Given the description of an element on the screen output the (x, y) to click on. 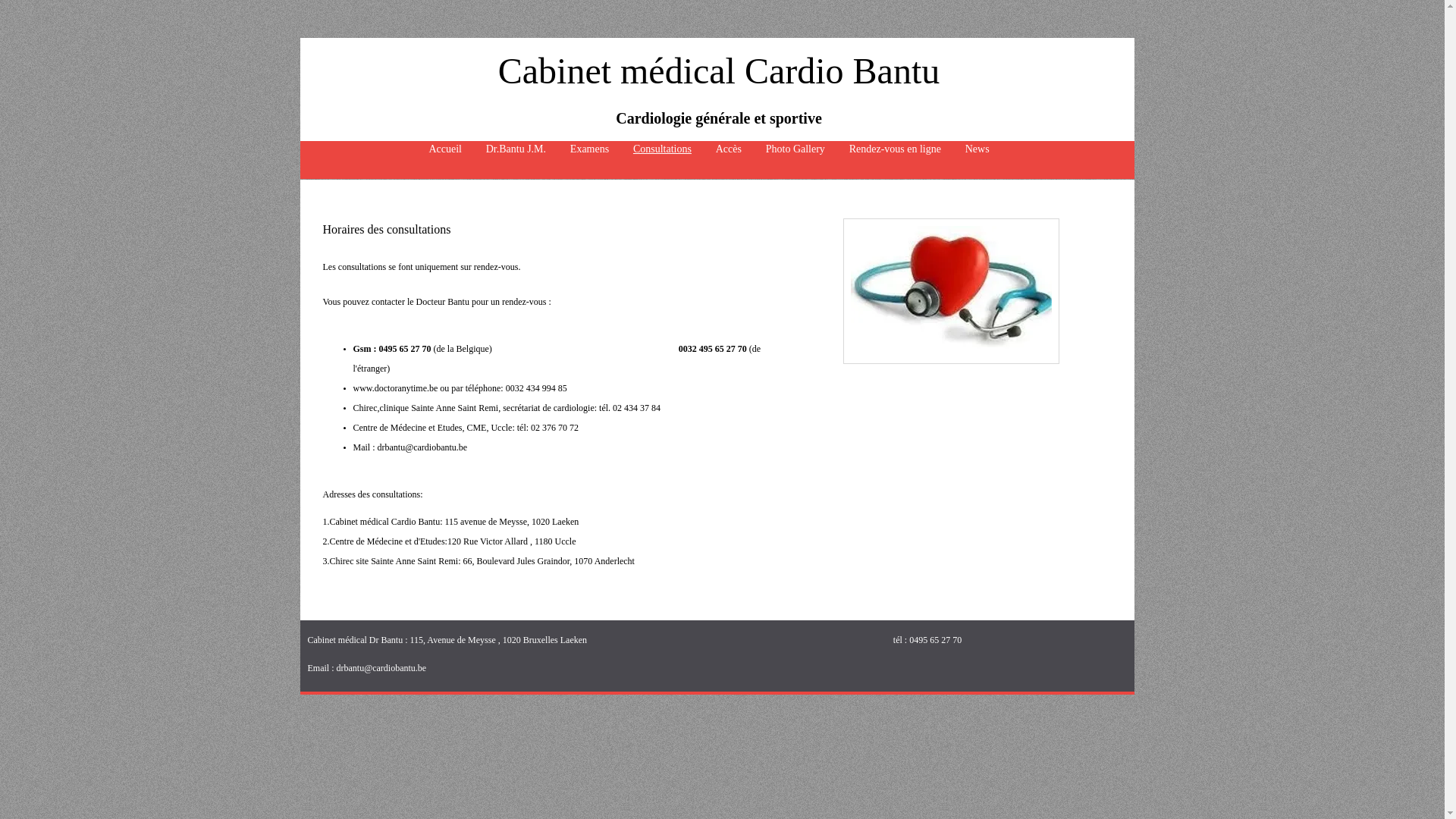
Photo Gallery Element type: text (795, 148)
News Element type: text (977, 148)
Examens Element type: text (589, 148)
drbantu@cardiobantu.be Element type: text (422, 447)
Rendez-vous en ligne Element type: text (895, 148)
Accueil Element type: text (445, 148)
Dr.Bantu J.M. Element type: text (515, 148)
Consultations Element type: text (662, 148)
drbantu@cardiobantu.be Element type: text (381, 667)
www.doctoranytime.be Element type: text (395, 387)
